Given the description of an element on the screen output the (x, y) to click on. 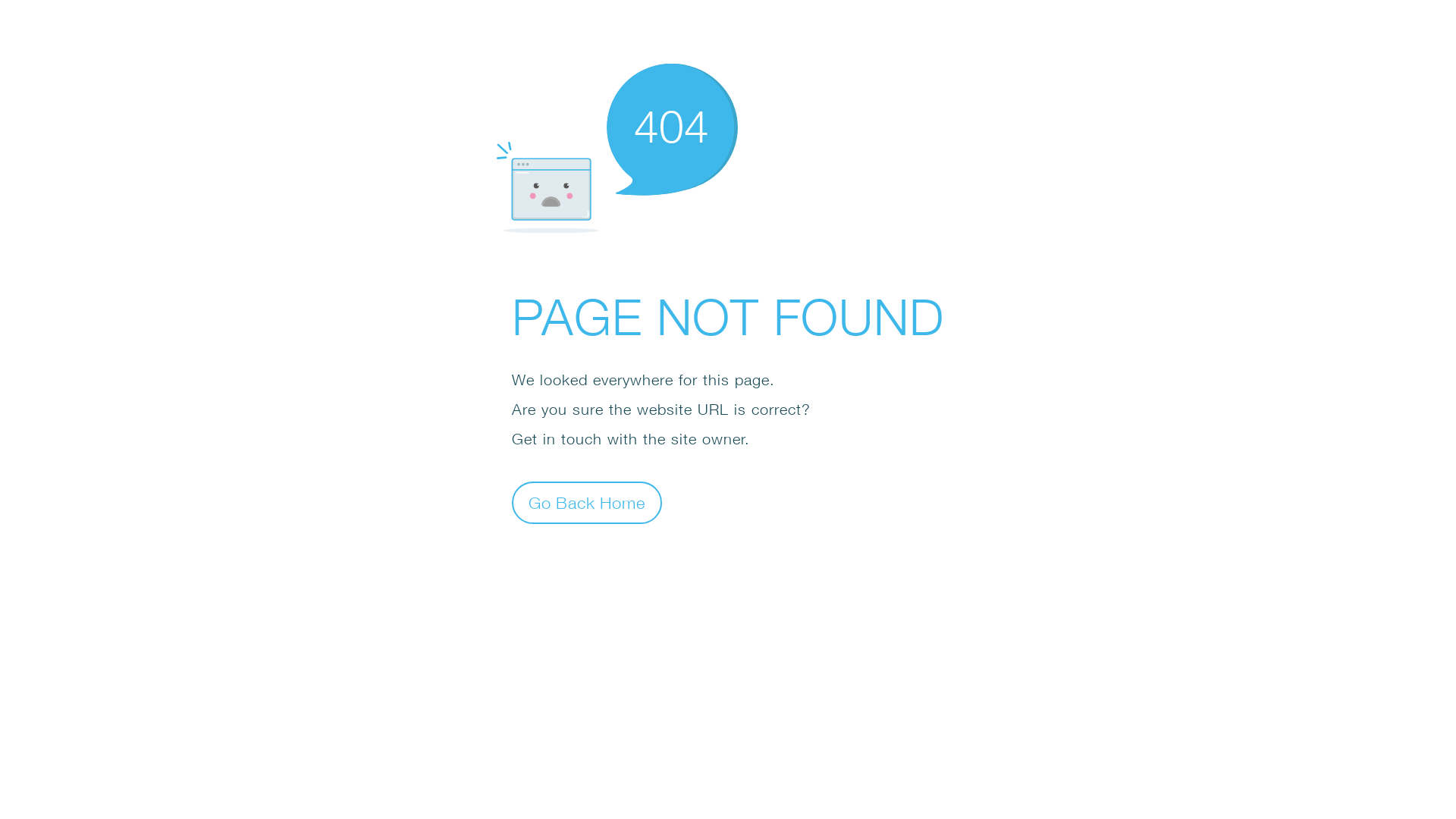
Go Back Home Element type: text (586, 502)
